Given the description of an element on the screen output the (x, y) to click on. 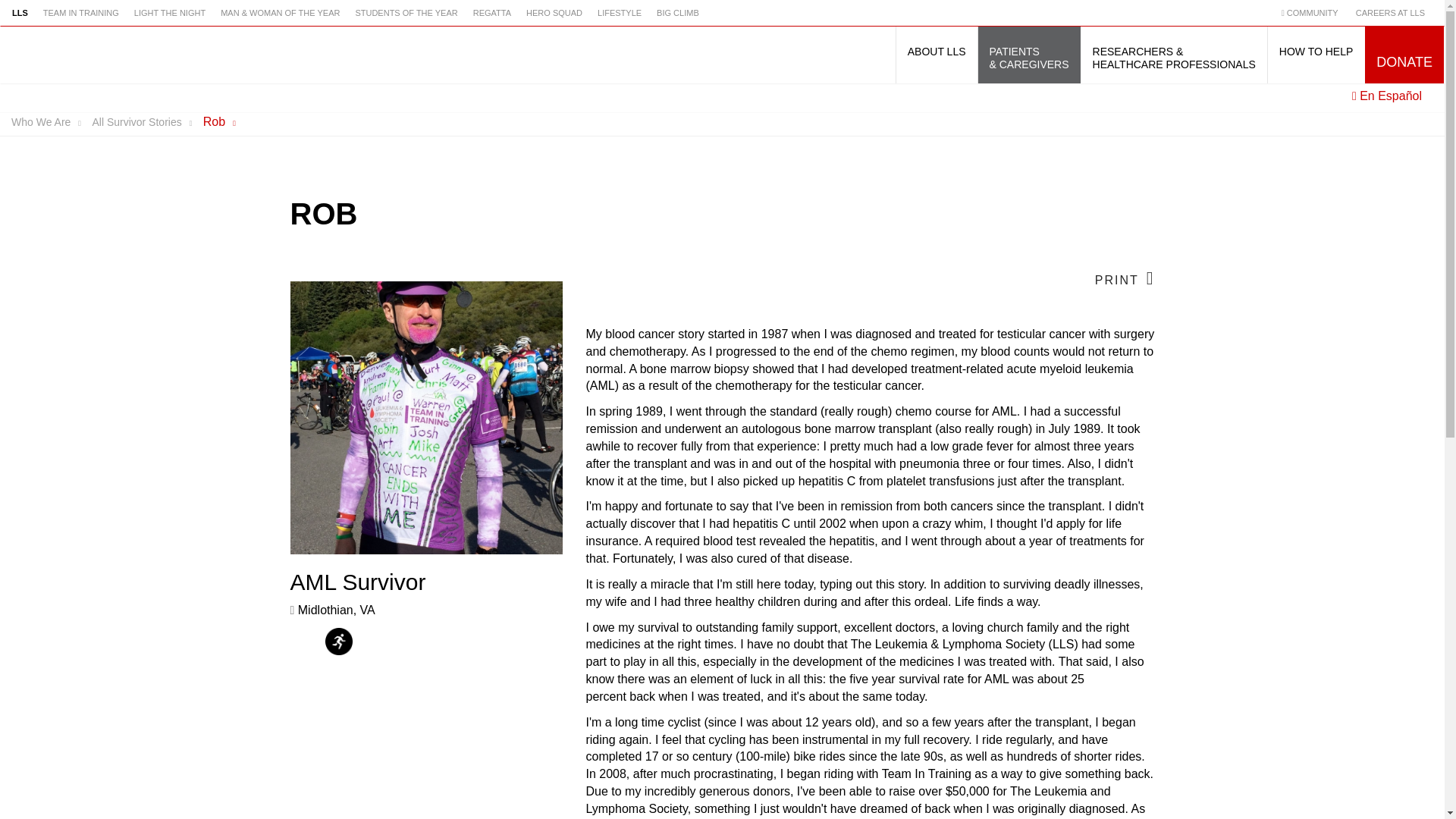
CAREERS AT LLS (1388, 12)
COMMUNITY (1313, 12)
BIG CLIMB (677, 12)
REGATTA (491, 12)
LIFESTYLE (619, 12)
LLS (22, 12)
LIGHT THE NIGHT (169, 12)
TEAM IN TRAINING (80, 12)
ABOUT LLS (937, 54)
HERO SQUAD (553, 12)
